Given the description of an element on the screen output the (x, y) to click on. 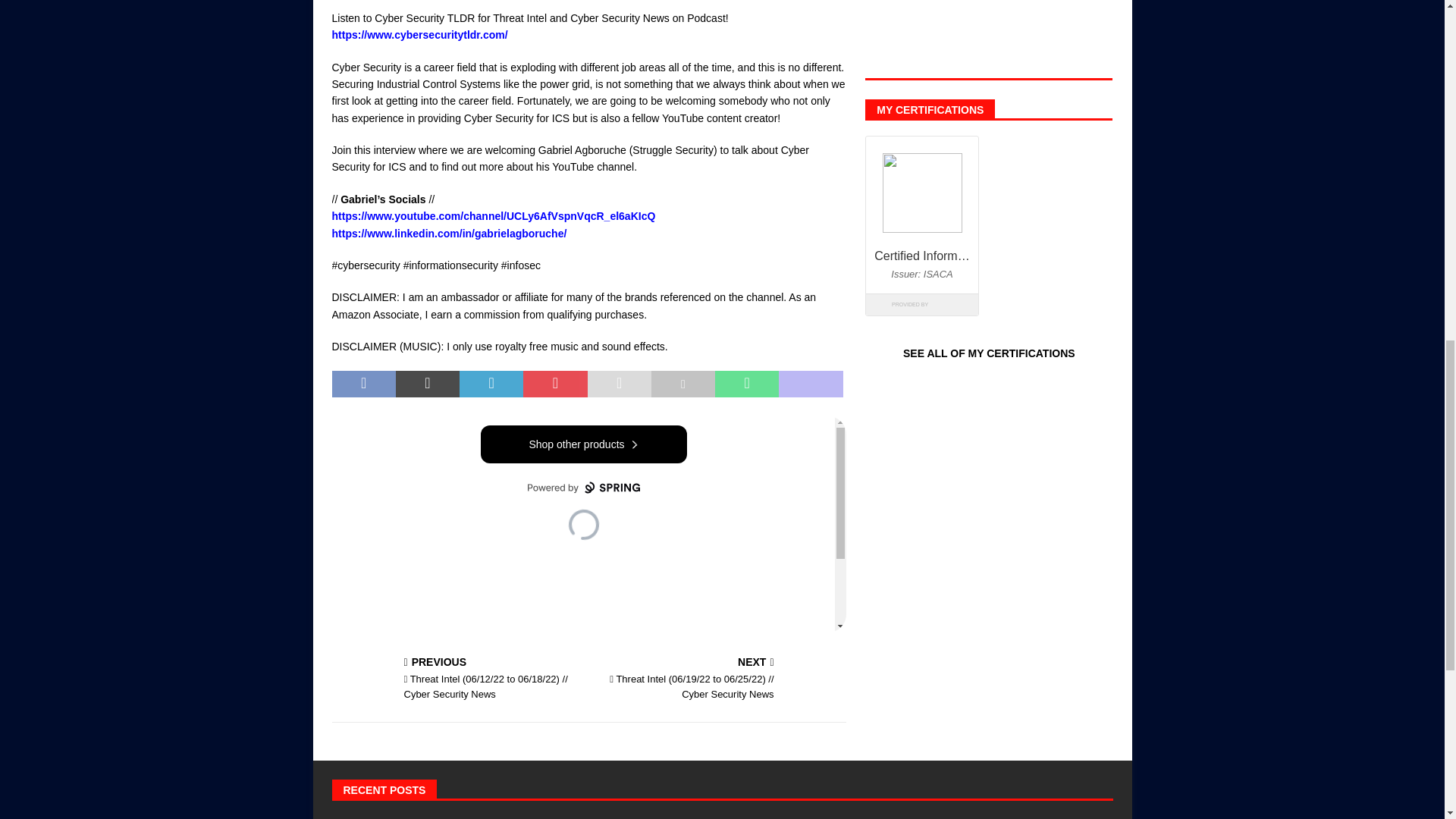
Share on Whatsapp (746, 384)
Print this article (682, 384)
Share On Mastodon (810, 384)
Share on LinkedIn (491, 384)
Pin This Post (554, 384)
JGC Store Widget Merch store powered by Spring (588, 524)
Send this article to a friend (619, 384)
Share on Facebook (363, 384)
Tweet This Post (428, 384)
